Given the description of an element on the screen output the (x, y) to click on. 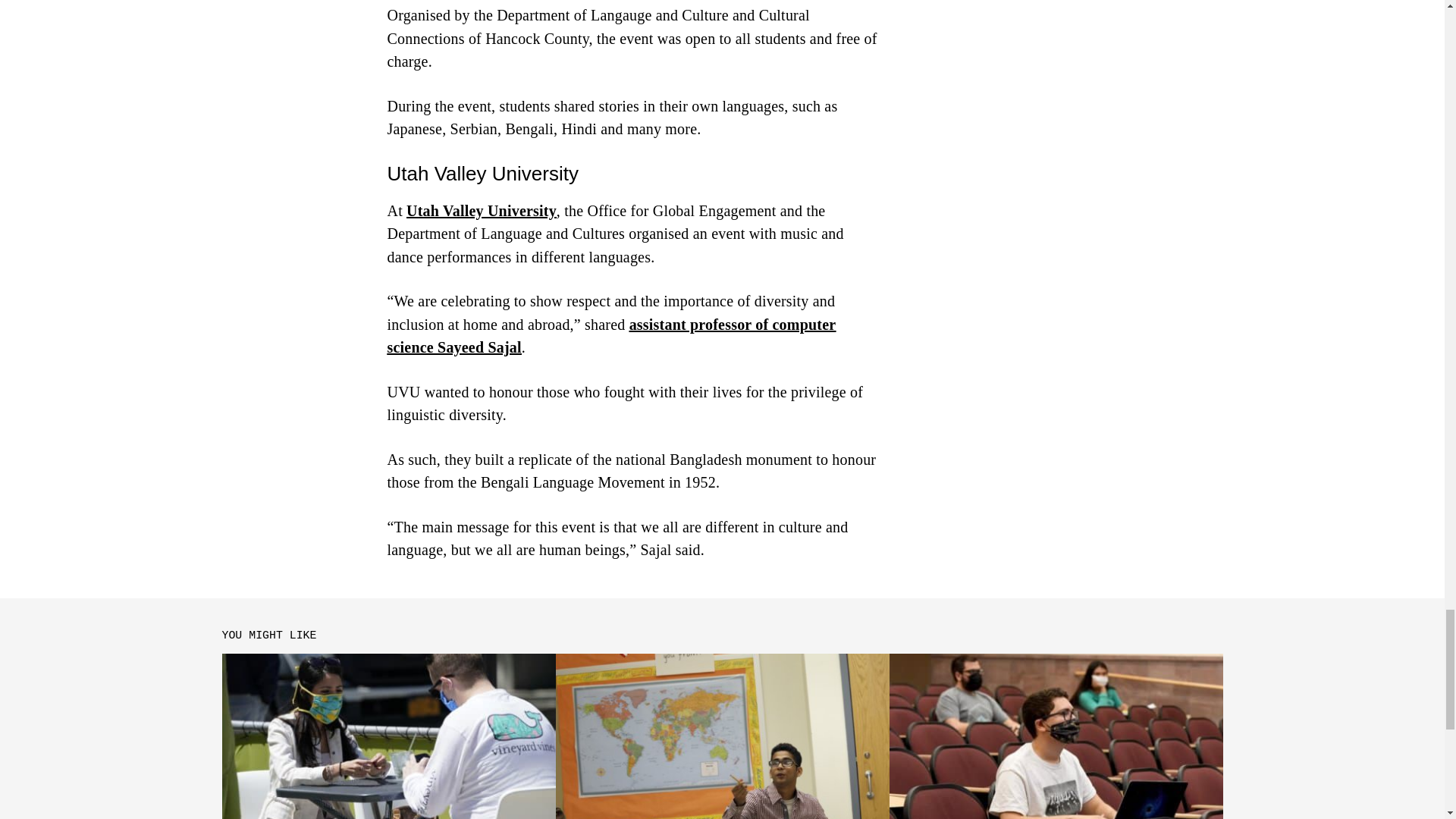
Utah Valley University (481, 209)
assistant professor of computer science Sayeed Sajal (611, 335)
